Given the description of an element on the screen output the (x, y) to click on. 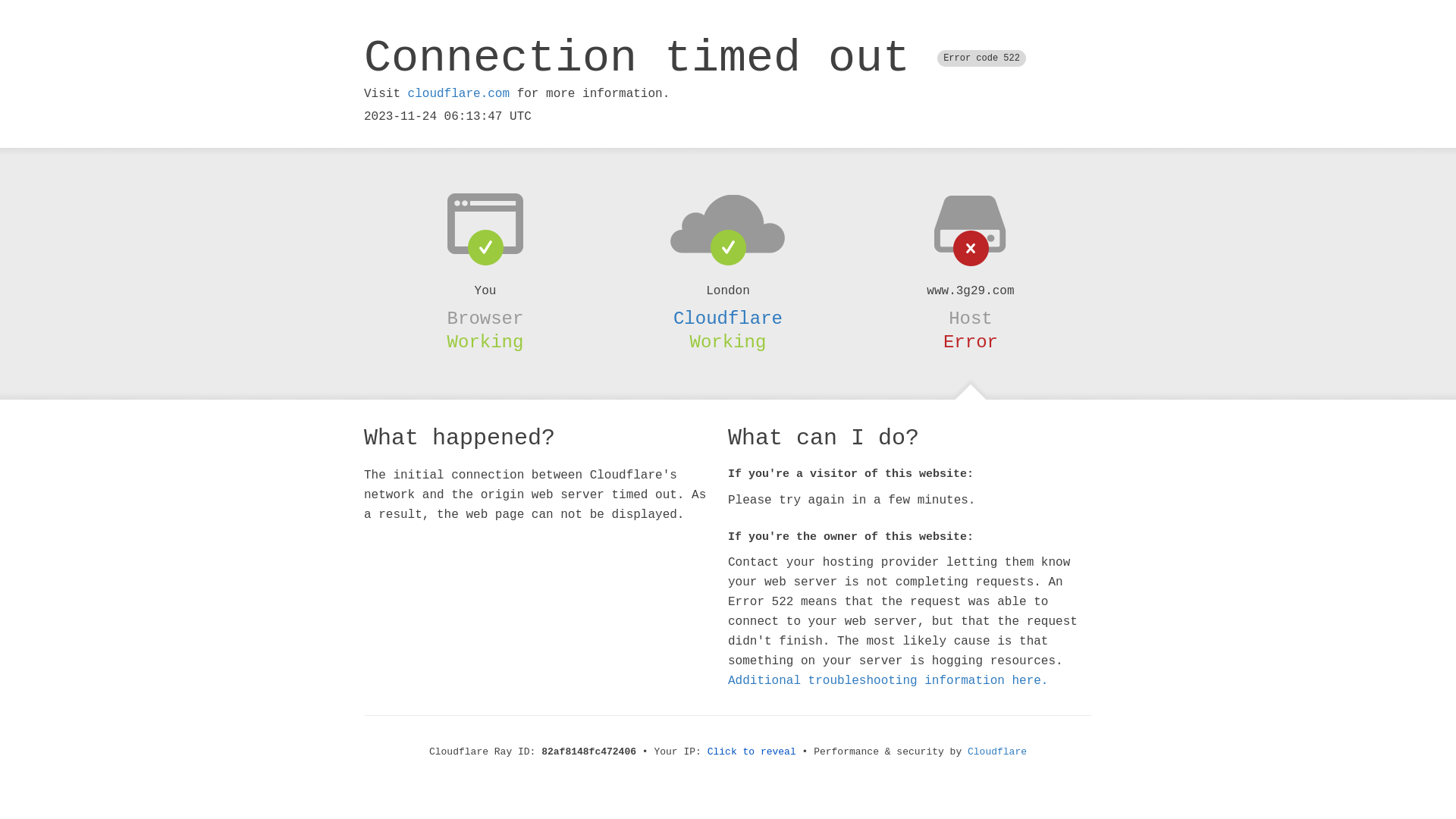
cloudflare.com Element type: text (458, 93)
Cloudflare Element type: text (996, 751)
Click to reveal Element type: text (751, 751)
Additional troubleshooting information here. Element type: text (888, 680)
Cloudflare Element type: text (727, 318)
